Given the description of an element on the screen output the (x, y) to click on. 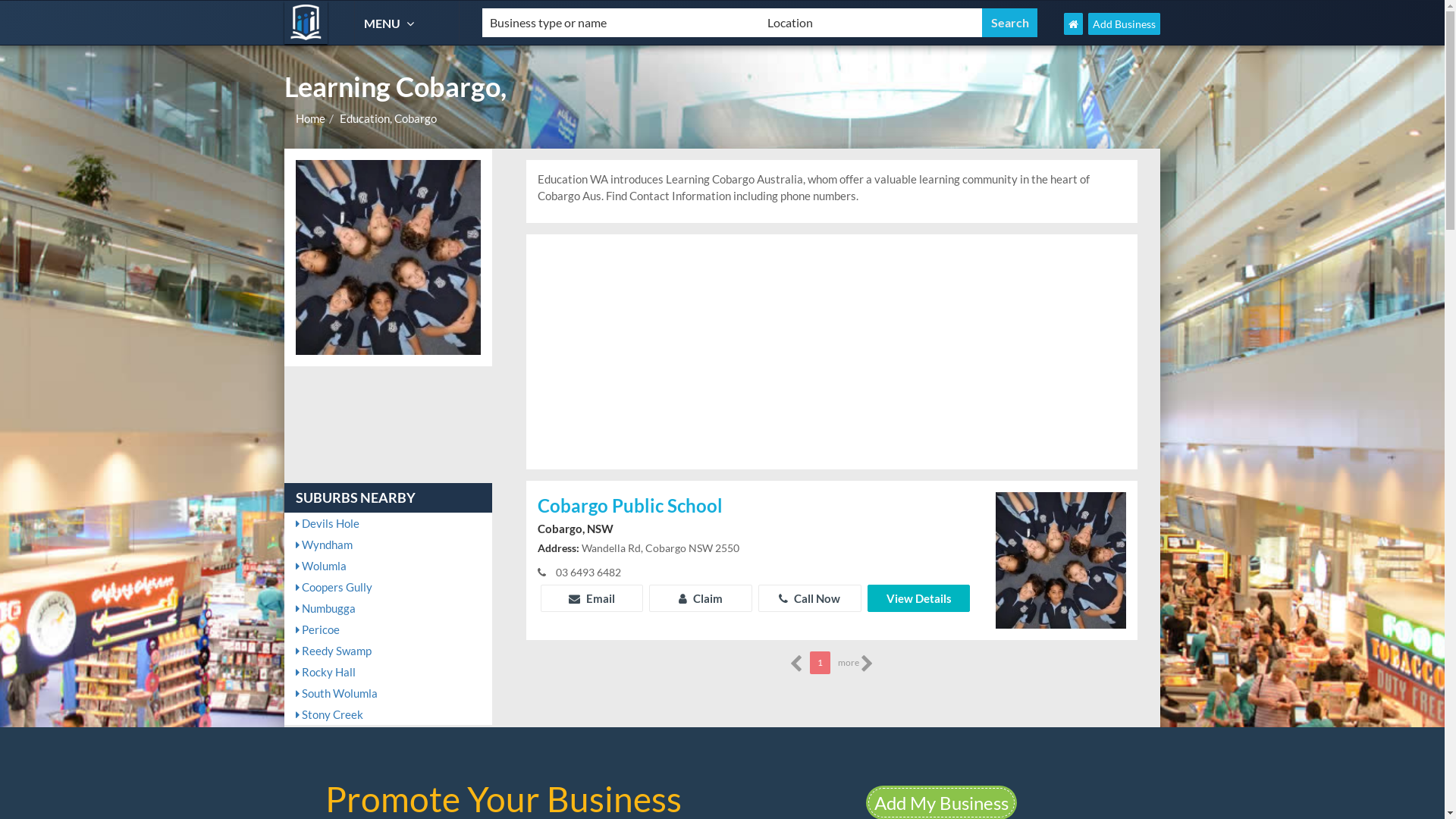
MENU Element type: text (390, 22)
Home Element type: text (310, 118)
Stony Creek Element type: text (388, 713)
Coopers Gully Element type: text (388, 586)
Numbugga Element type: text (388, 607)
Rocky Hall Element type: text (388, 671)
Education, Cobargo Element type: text (387, 118)
1 Element type: text (819, 662)
Call Now Element type: text (809, 597)
Search Element type: text (1009, 22)
Devils Hole Element type: text (388, 522)
Reedy Swamp Element type: text (388, 650)
Cobargo Public School Element type: text (755, 506)
More info on Cobargo Public School Element type: hover (1060, 558)
Add My Business Element type: text (941, 802)
Wyndham Element type: text (388, 544)
Email Element type: text (591, 597)
Wolumla Element type: text (388, 565)
View Details Element type: text (918, 597)
Advertisement Element type: hover (831, 351)
Add Business Element type: text (1124, 23)
South Wolumla Element type: text (388, 692)
Education WA Home Page Element type: hover (1072, 23)
more Element type: text (855, 662)
Claim Element type: text (700, 597)
Education WA Element type: hover (305, 21)
Pericoe Element type: text (388, 629)
